Given the description of an element on the screen output the (x, y) to click on. 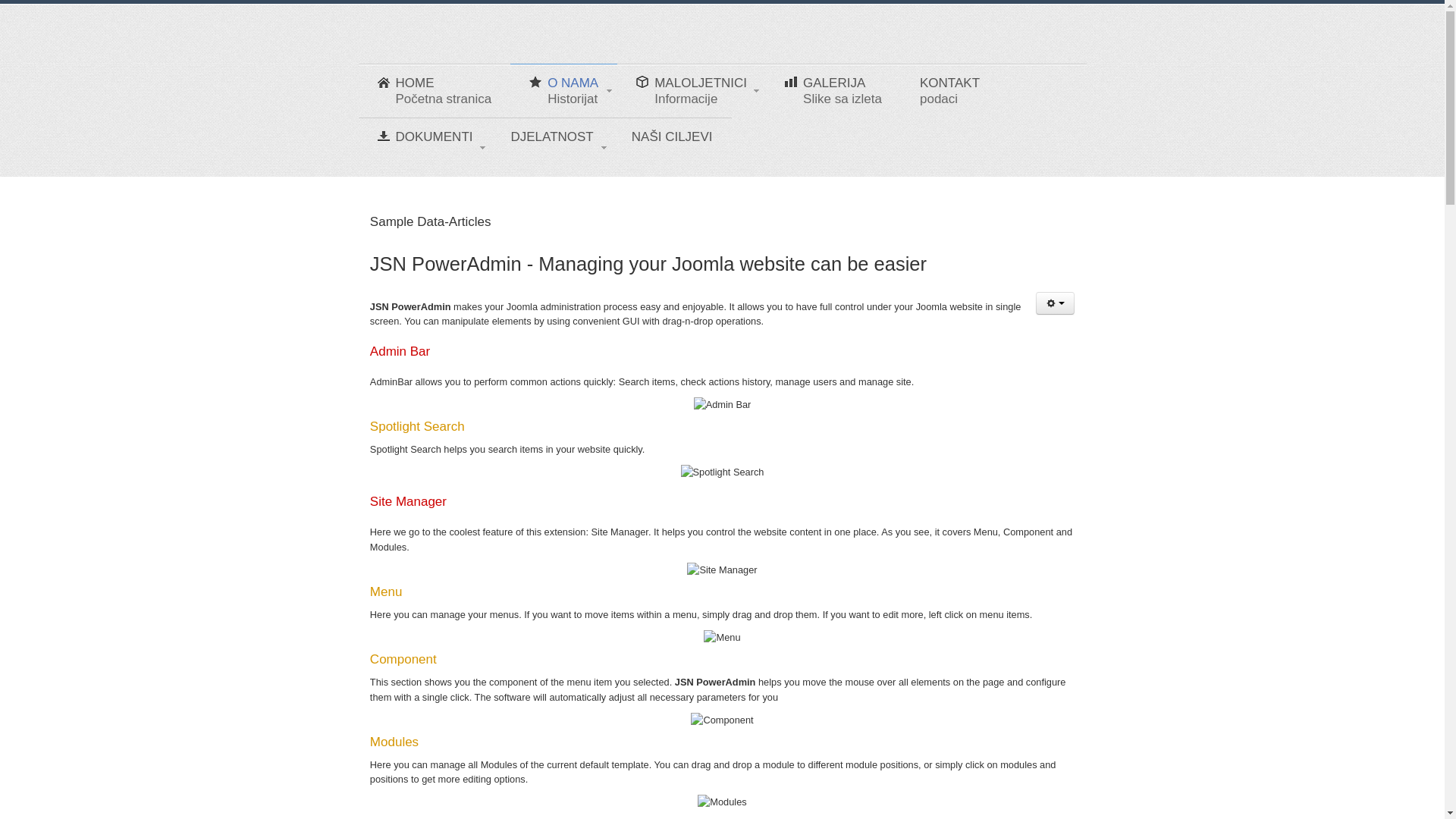
Informacije (949, 90)
Slike sa izleta (691, 90)
podaci (833, 90)
Historijat (949, 90)
DJELATNOST (564, 90)
DOKUMENTI (833, 90)
